Given the description of an element on the screen output the (x, y) to click on. 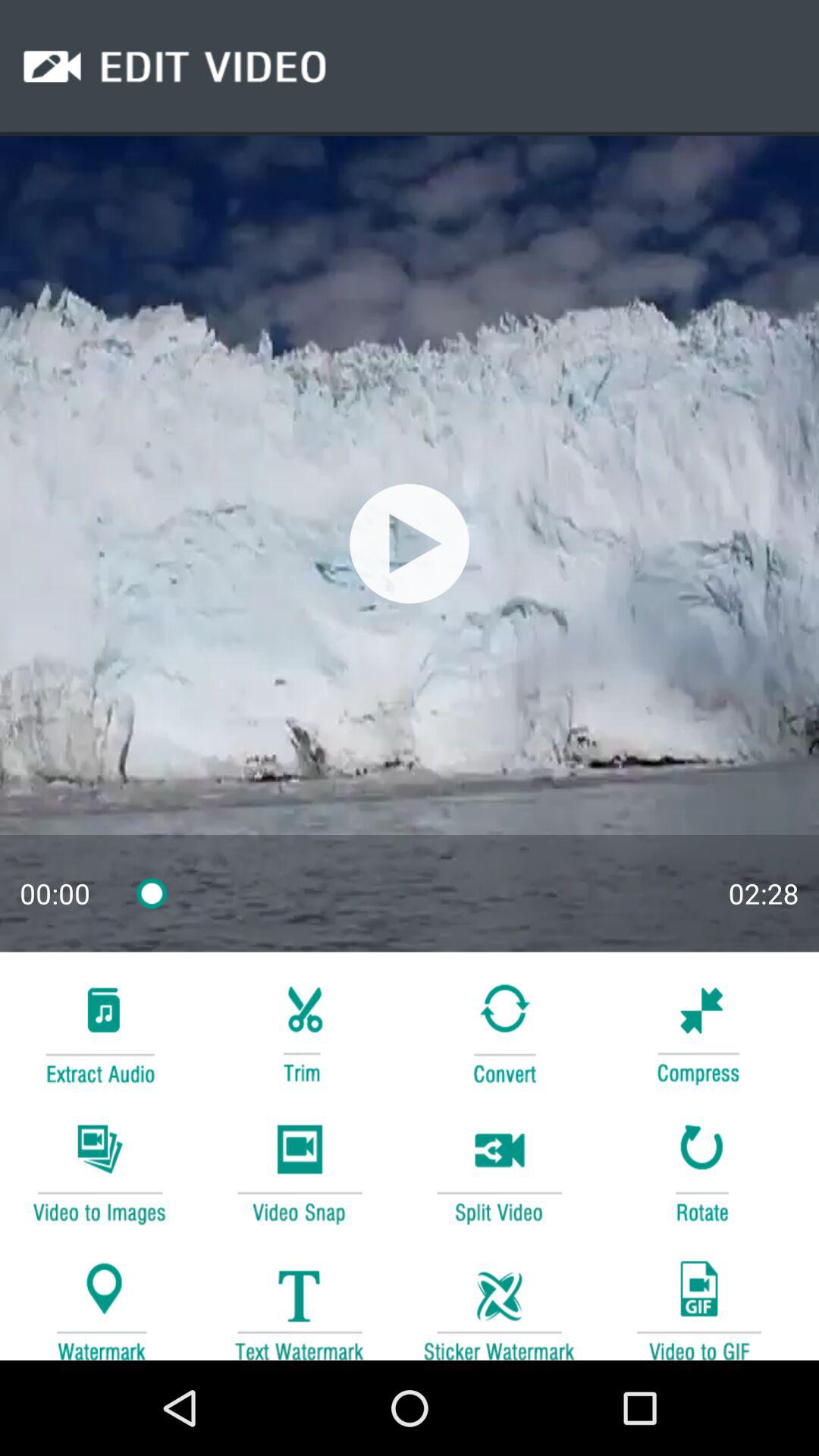
transform video into images (99, 1171)
